Given the description of an element on the screen output the (x, y) to click on. 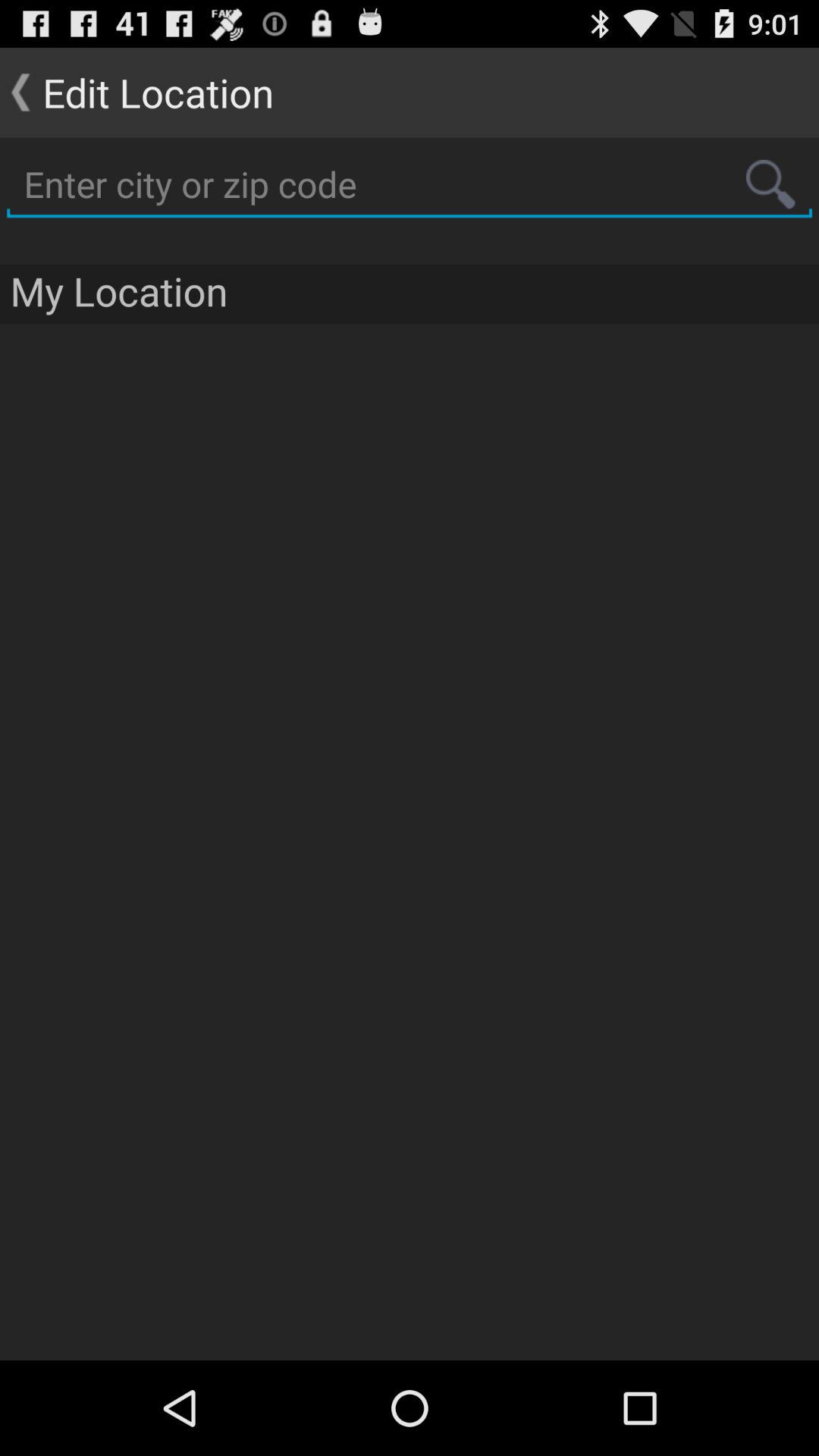
click the item at the top left corner (137, 91)
